Given the description of an element on the screen output the (x, y) to click on. 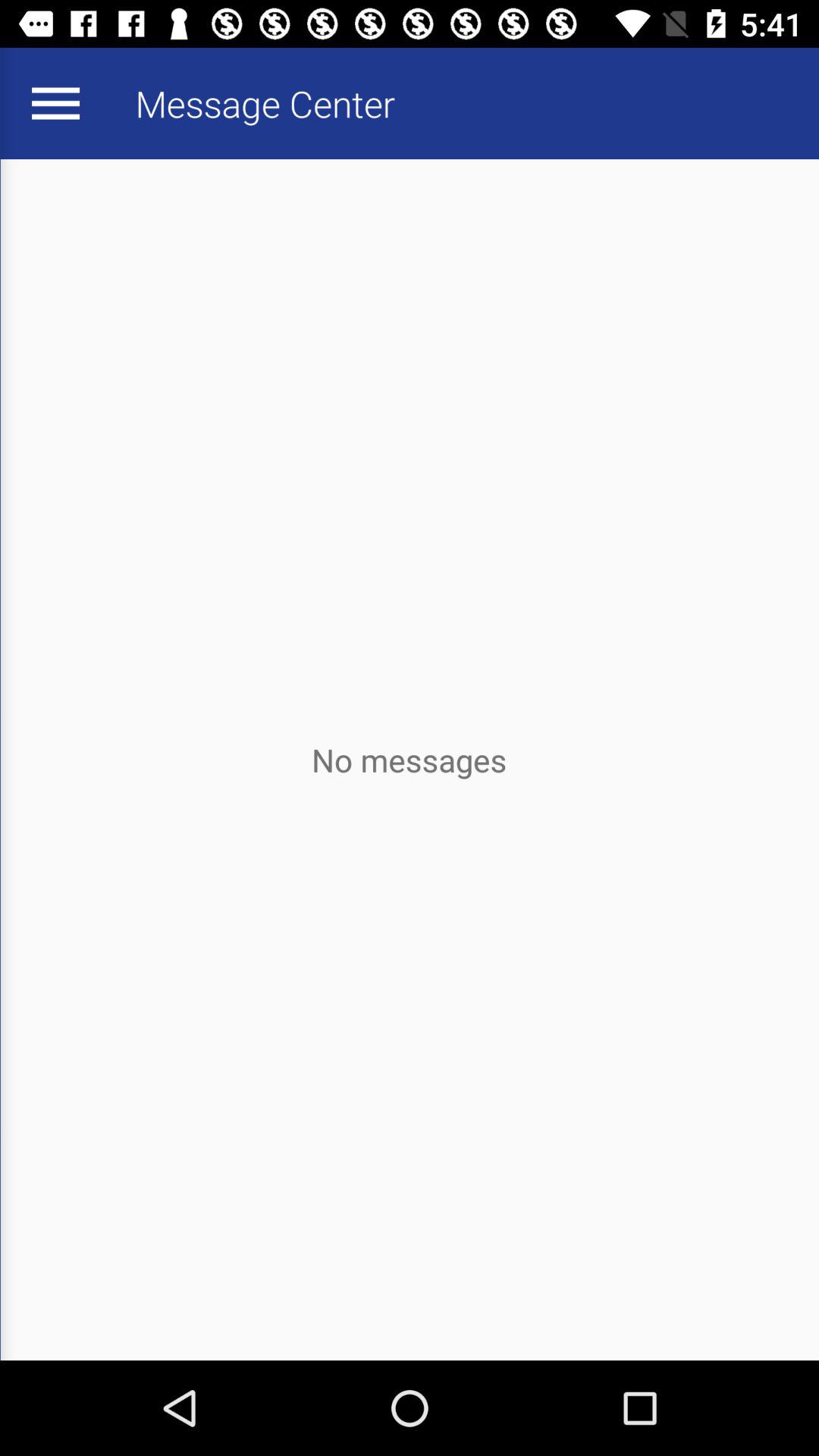
press app to the left of the message center (55, 103)
